Given the description of an element on the screen output the (x, y) to click on. 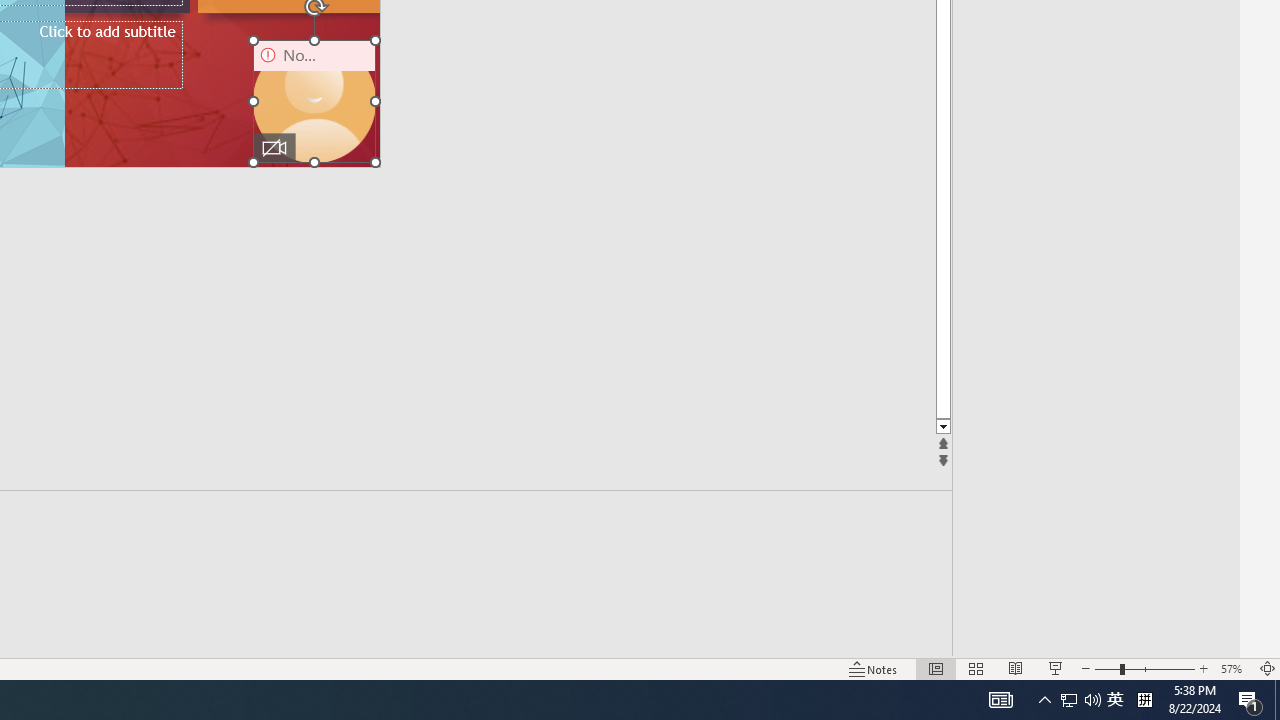
Line down (1230, 427)
Notes  (874, 668)
Reading View (1015, 668)
Slide Sorter (975, 668)
Slide Show (1055, 668)
Normal (936, 668)
Zoom to Fit  (1267, 668)
Camera 11, No camera detected. (313, 101)
Zoom 57% (1234, 668)
Zoom (1144, 668)
Camera 14, No camera detected. (313, 101)
Zoom Out (1107, 668)
Zoom In (1204, 668)
